Given the description of an element on the screen output the (x, y) to click on. 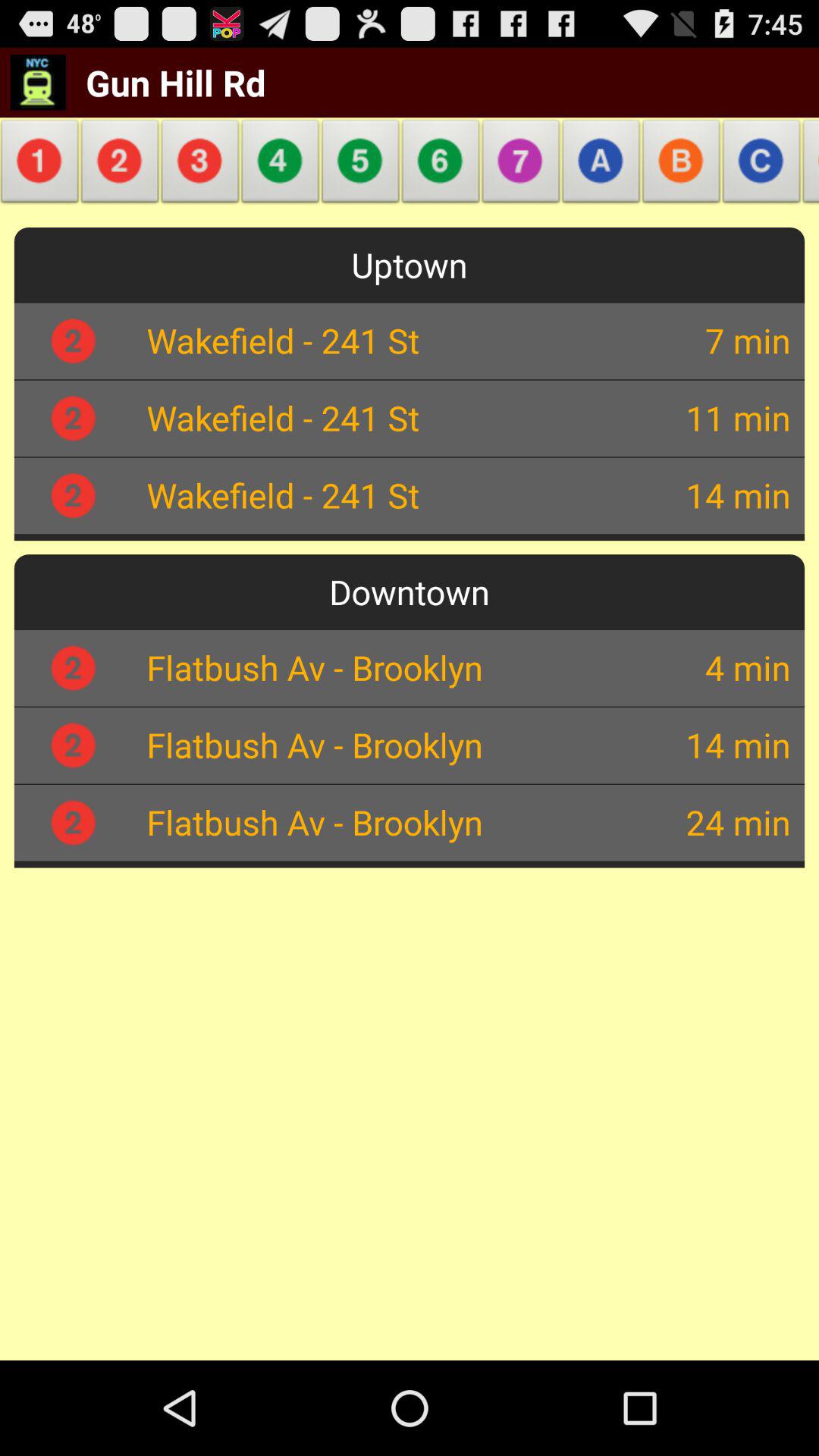
select app below the gun hill rd (200, 165)
